Given the description of an element on the screen output the (x, y) to click on. 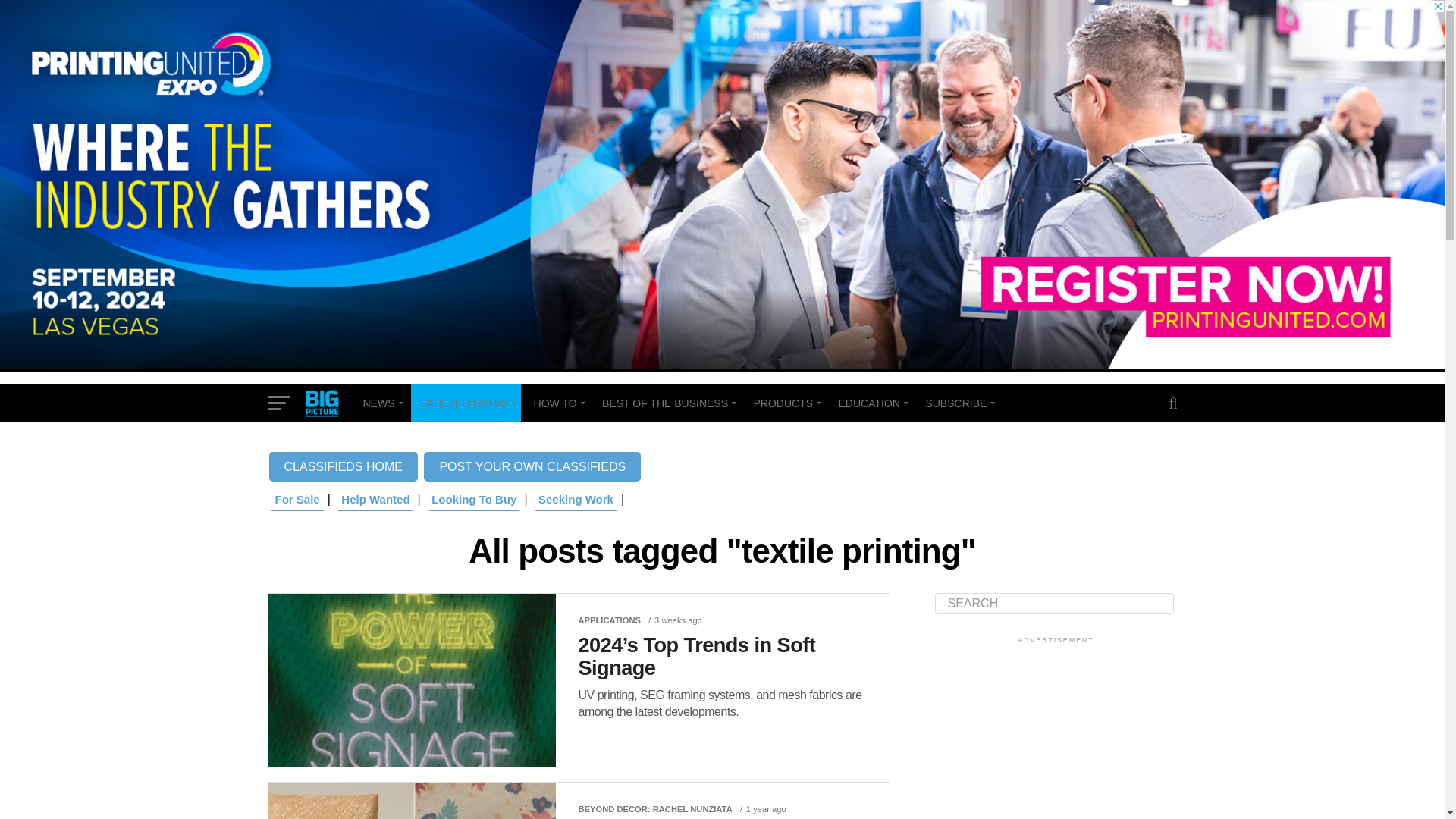
3rd party ad content (1047, 733)
Search (1053, 603)
